Given the description of an element on the screen output the (x, y) to click on. 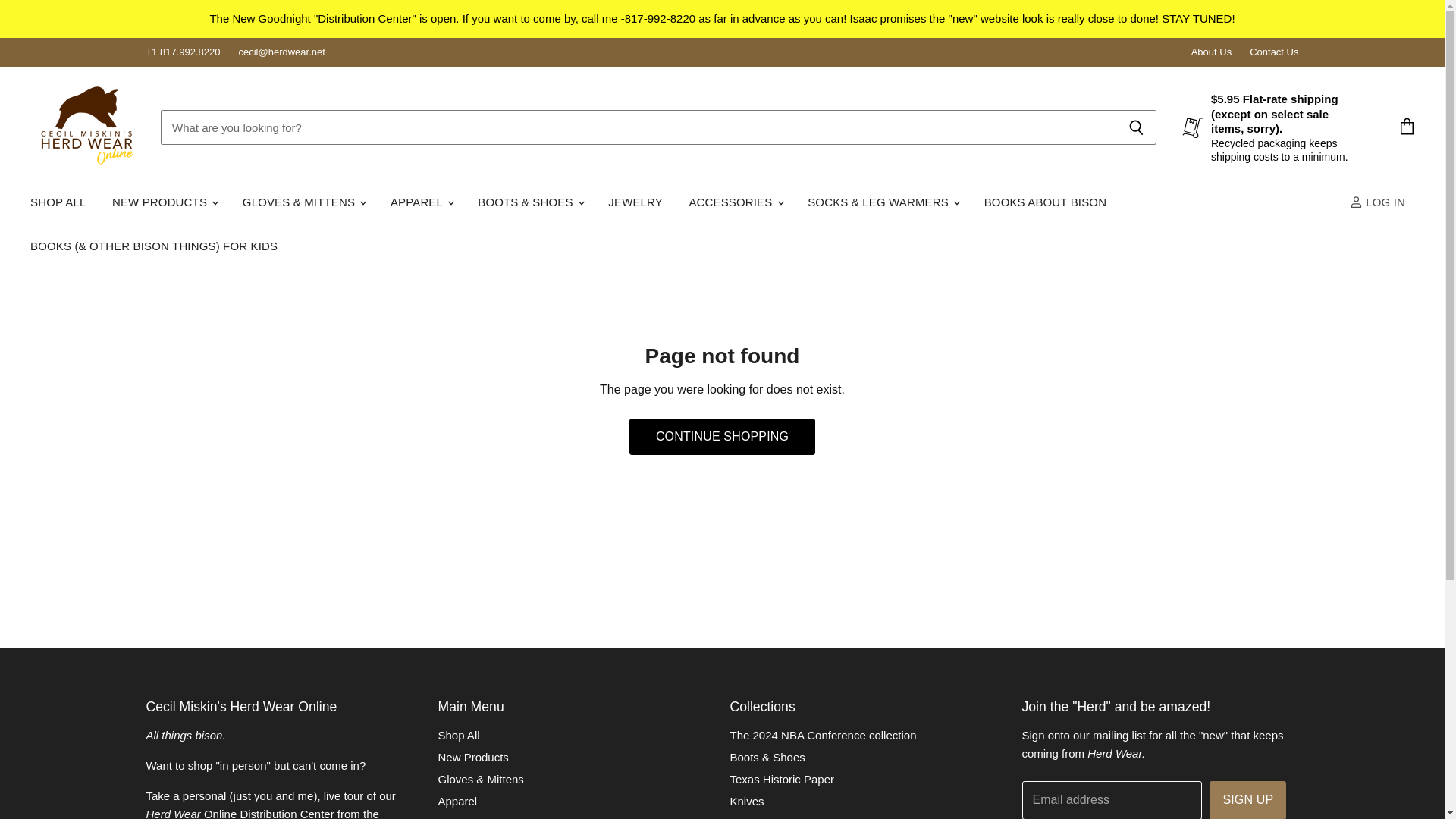
Delivery icon (1193, 127)
About Us (1211, 52)
SHOP ALL (57, 202)
ACCOUNT ICON (1355, 201)
APPAREL (420, 202)
NEW PRODUCTS (163, 202)
Contact Us (1273, 52)
